Given the description of an element on the screen output the (x, y) to click on. 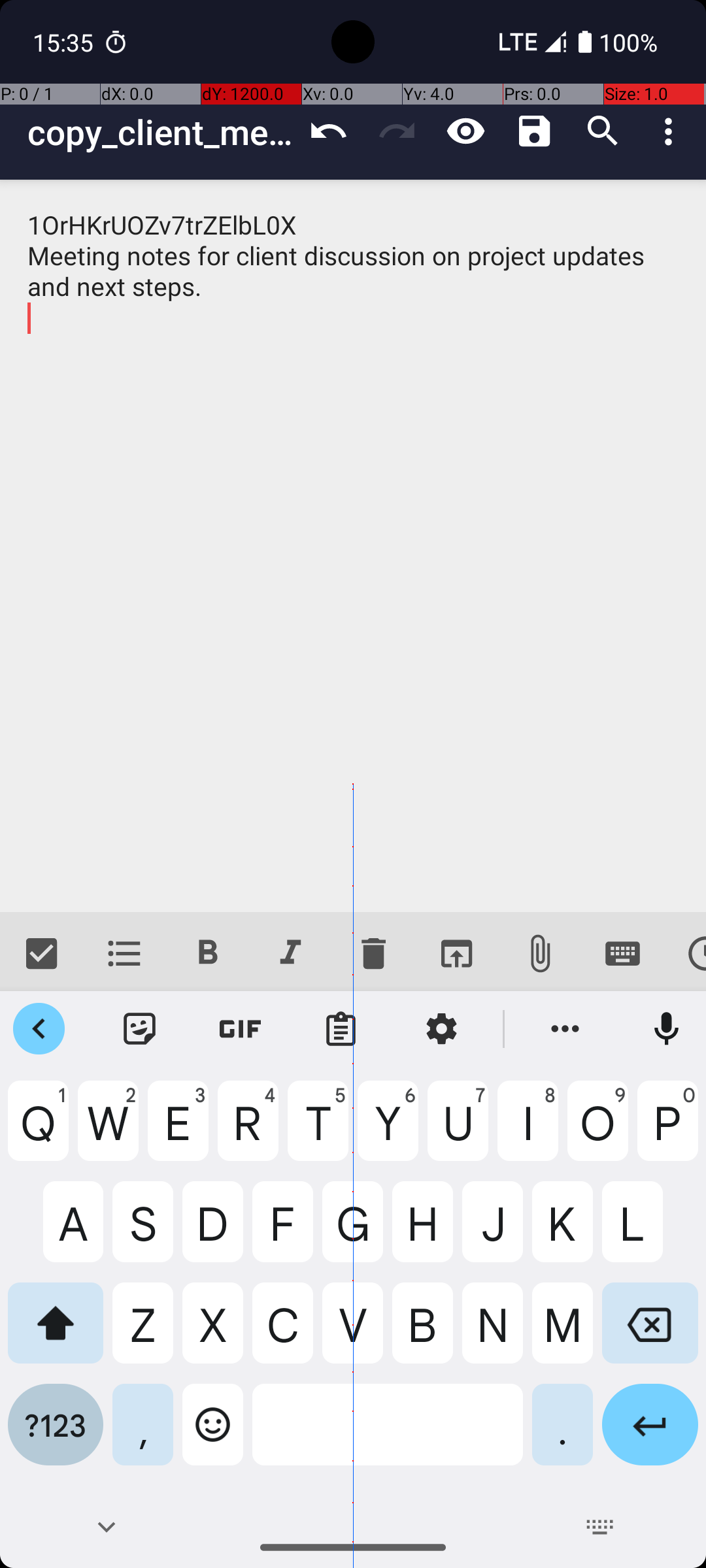
copy_client_meetings_schedule Element type: android.widget.TextView (160, 131)
1OrHKrUOZv7trZElbL0X
Meeting notes for client discussion on project updates and next steps.
 Element type: android.widget.EditText (353, 545)
